Given the description of an element on the screen output the (x, y) to click on. 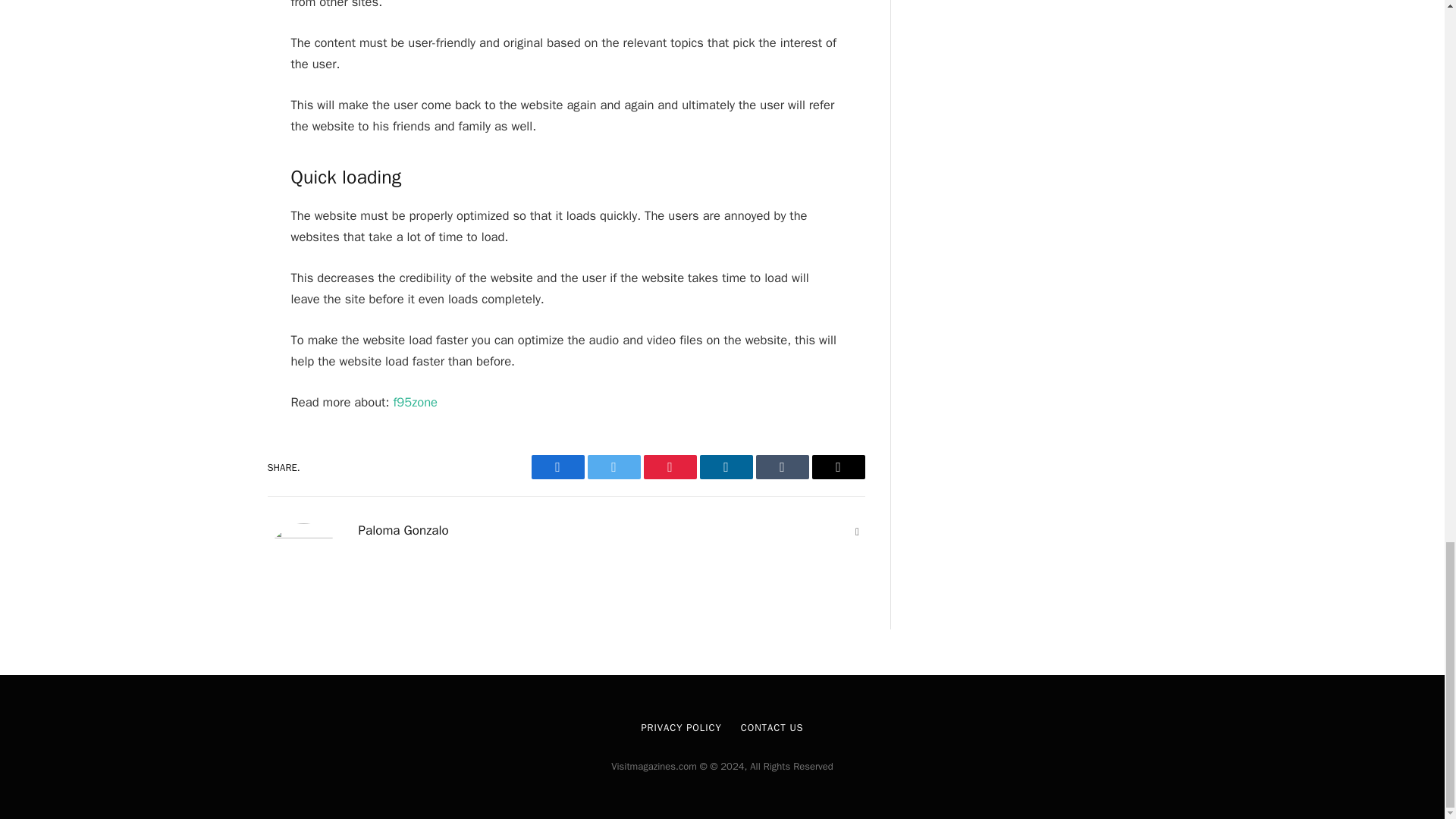
f95zone (415, 401)
Facebook (557, 467)
